Given the description of an element on the screen output the (x, y) to click on. 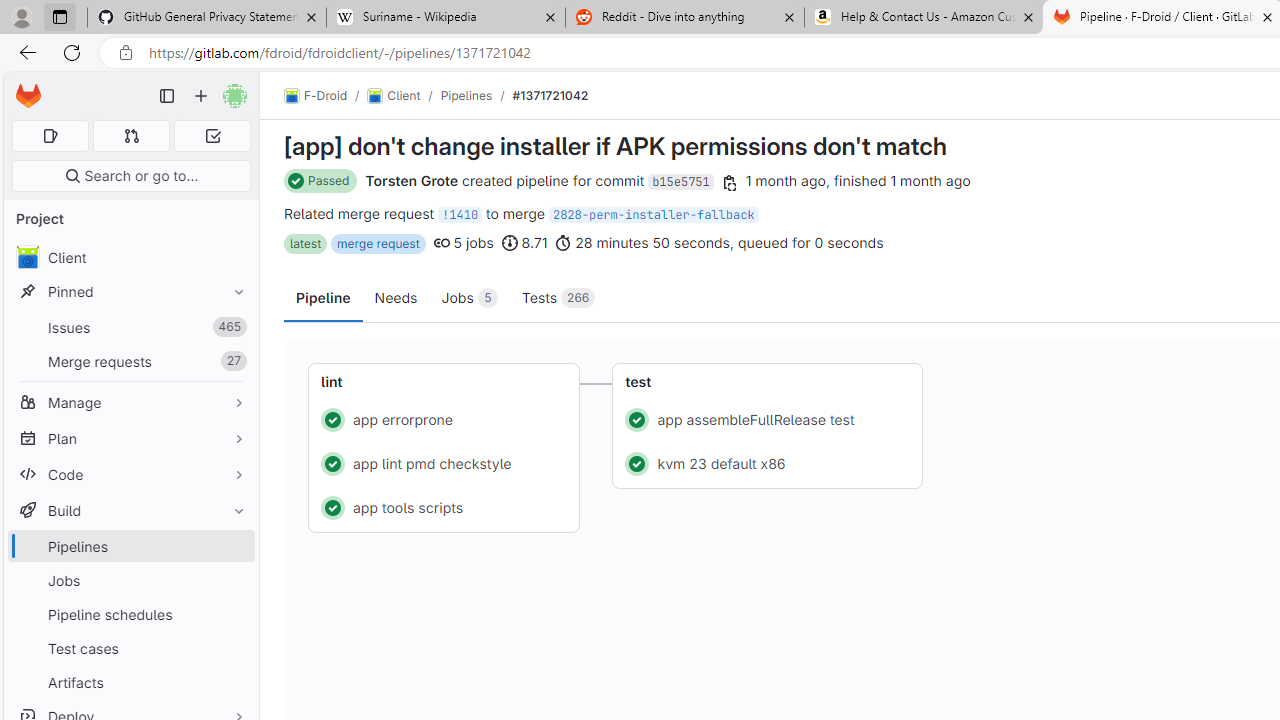
avatar (27, 257)
Status: Passed app lint pmd checkstyle (444, 462)
Merge requests 27 (130, 361)
Primary navigation sidebar (167, 96)
avatar Client (130, 257)
Build (130, 510)
Pin Test cases (234, 647)
GitHub General Privacy Statement - GitHub Docs (207, 17)
Pipeline schedules (130, 614)
Assigned issues 0 (50, 136)
To-Do list 0 (212, 136)
Reddit - Dive into anything (684, 17)
Client (130, 257)
Suriname - Wikipedia (445, 17)
